Given the description of an element on the screen output the (x, y) to click on. 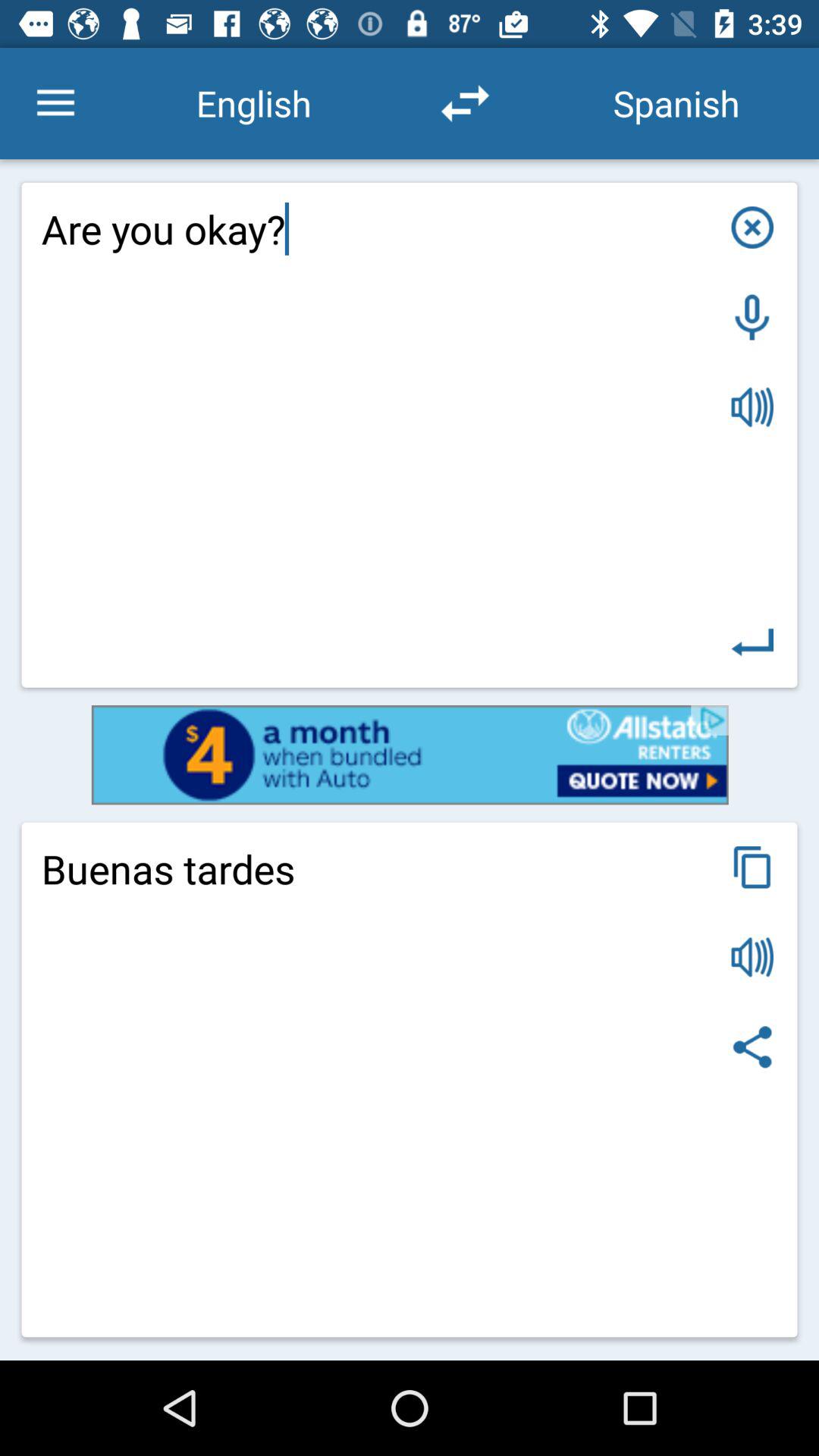
delete the text (752, 227)
